Given the description of an element on the screen output the (x, y) to click on. 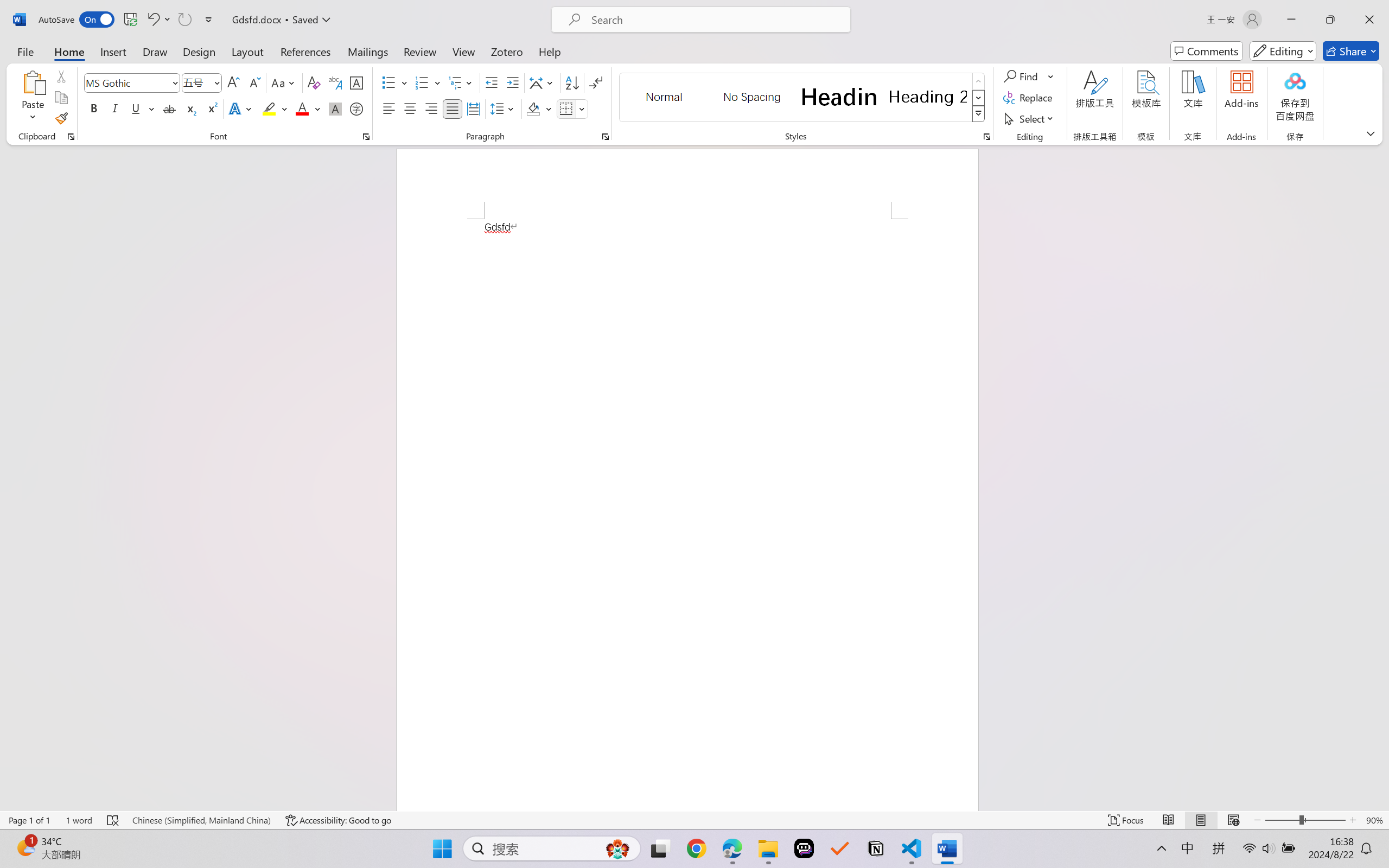
Distributed (473, 108)
Microsoft search (715, 19)
